Given the description of an element on the screen output the (x, y) to click on. 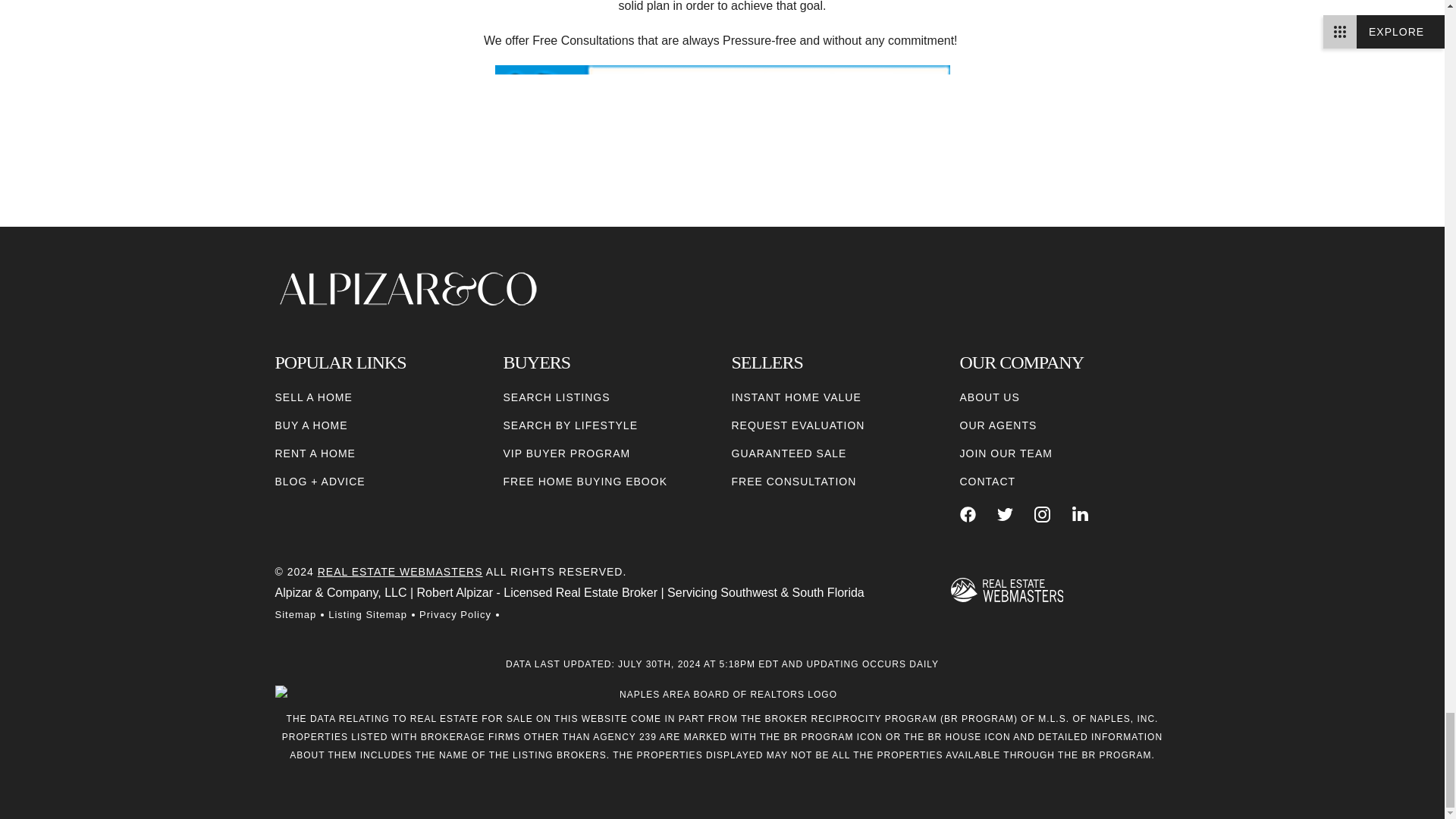
LINKEDIN (1079, 514)
TWITTER (1005, 514)
FACEBOOK (967, 514)
